Given the description of an element on the screen output the (x, y) to click on. 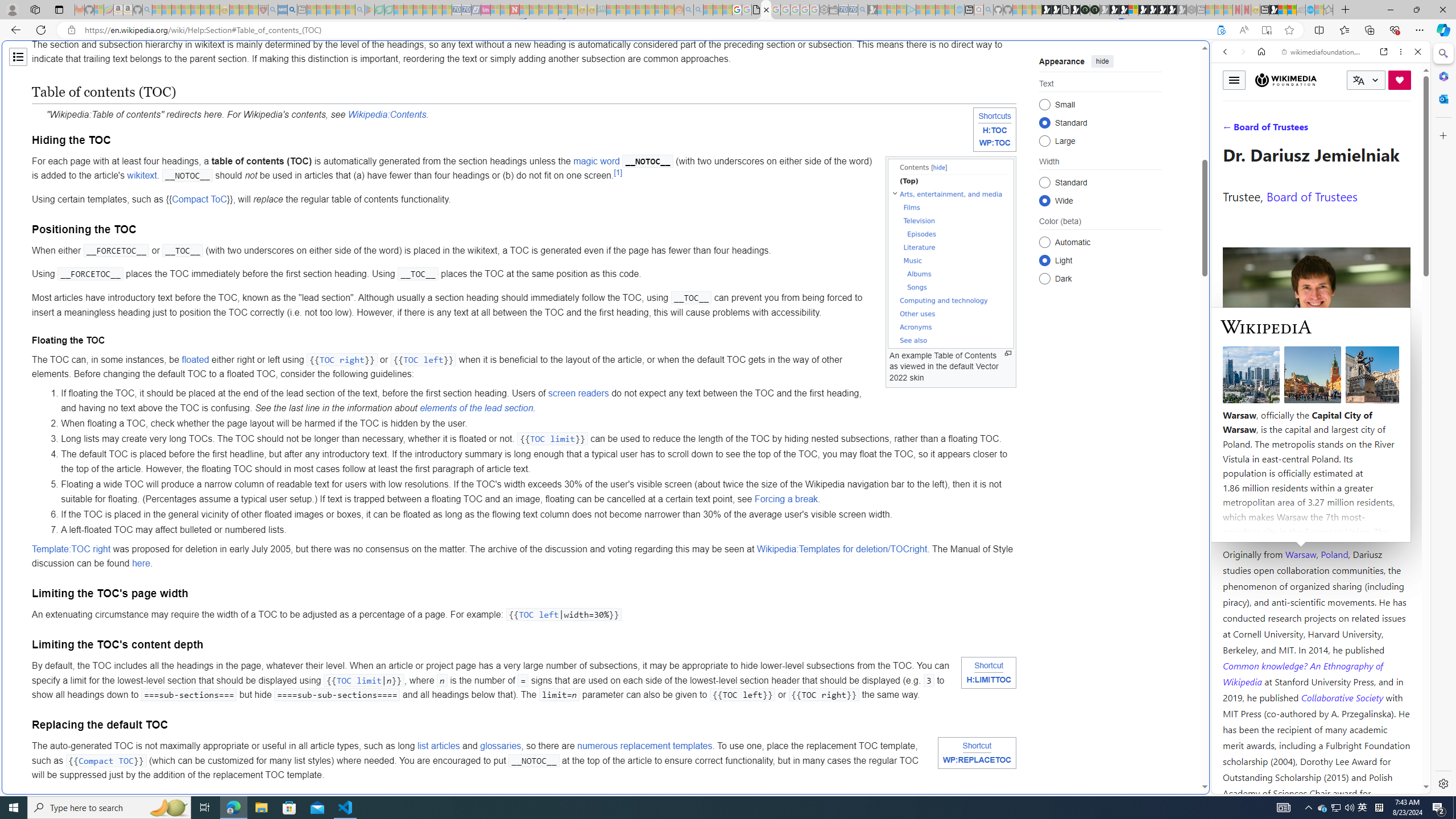
Pets - MSN - Sleeping (340, 9)
WEB   (1230, 130)
Search the web (1326, 78)
H:LIMITTOC (988, 680)
Play Cave FRVR in your browser | Games from Microsoft Start (1114, 9)
Frequently visited (965, 151)
